Given the description of an element on the screen output the (x, y) to click on. 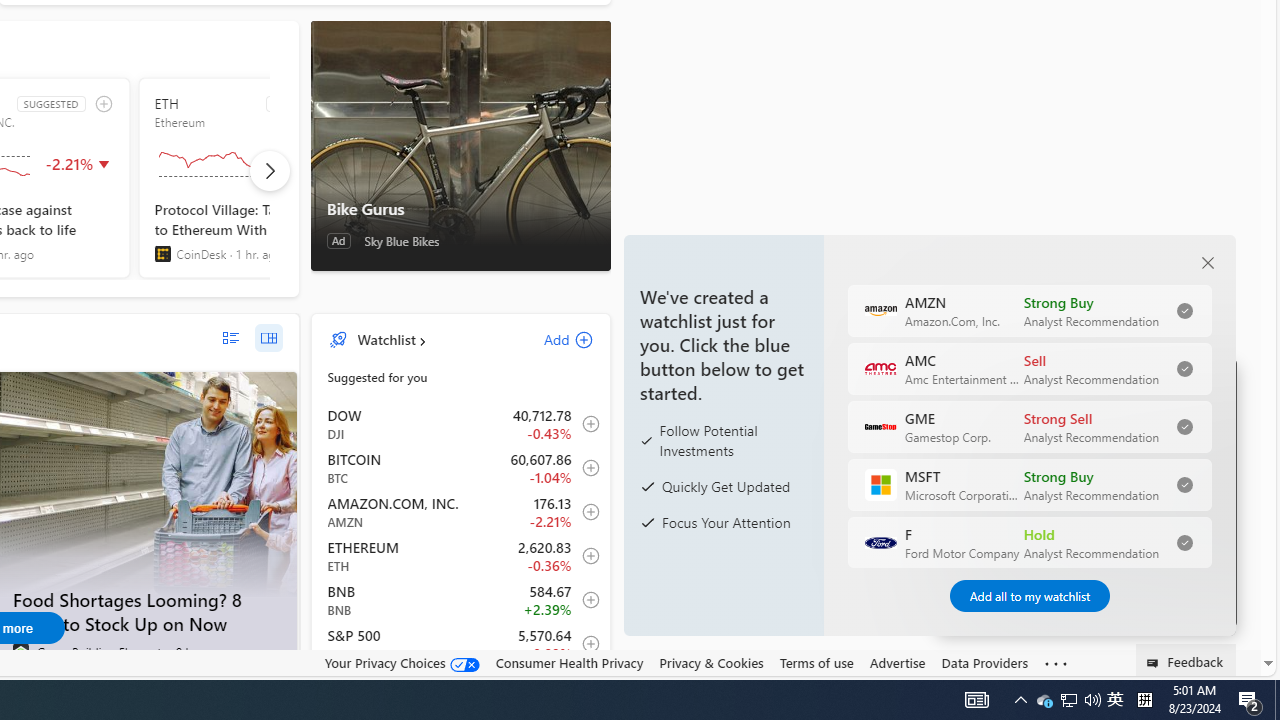
Watchlist (386, 339)
Data Providers (983, 663)
add to watchlist (103, 103)
Add (551, 339)
grid layout (267, 338)
Green Building Elements (20, 651)
Bike Gurus (460, 209)
